Given the description of an element on the screen output the (x, y) to click on. 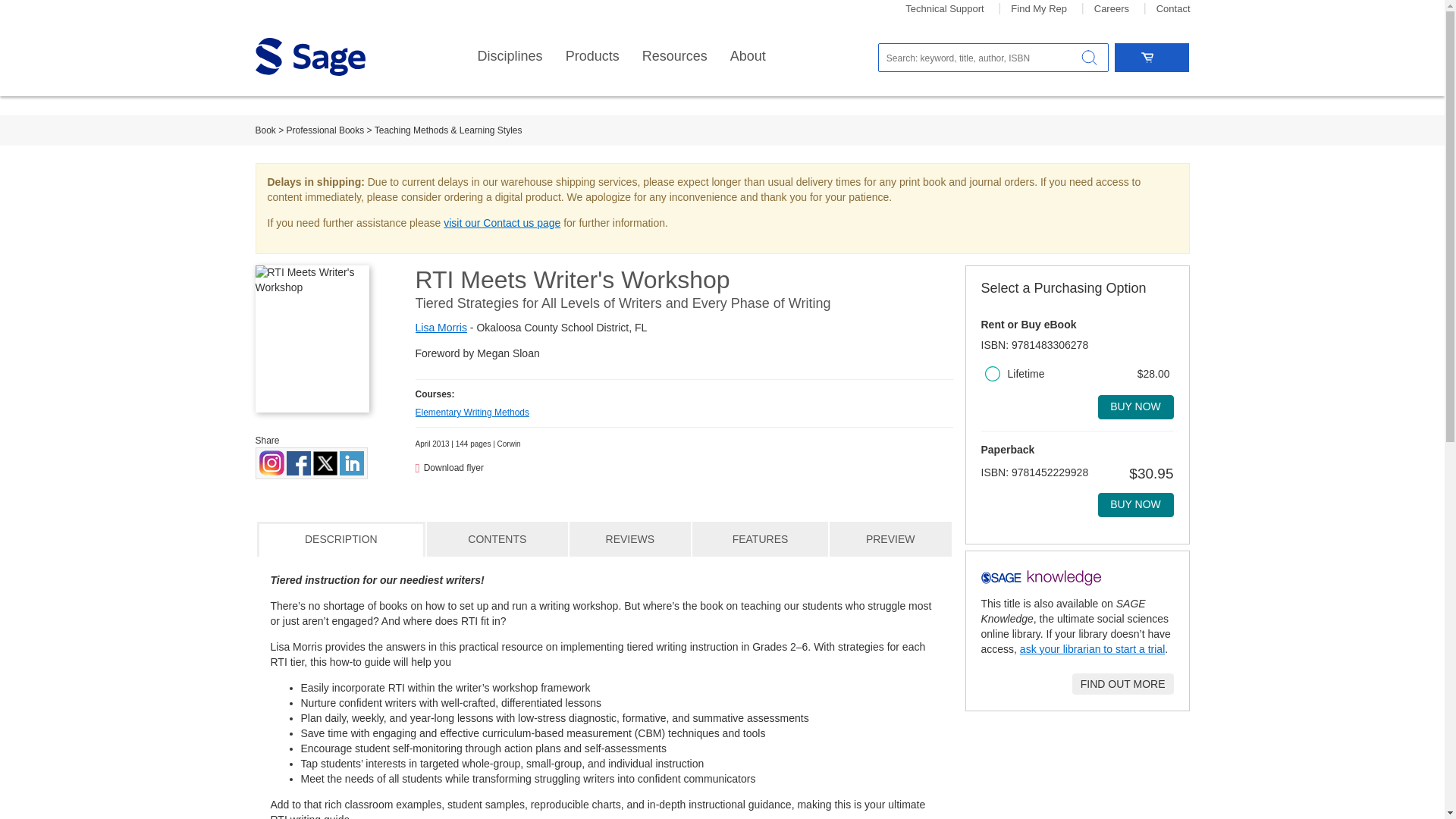
Find My Rep (1038, 8)
Buy now (1135, 406)
Sage logo: link back to homepage (309, 56)
Disciplines (509, 55)
Careers (1111, 8)
Search (1089, 57)
29 (991, 373)
Technical Support (944, 8)
Buy now (1135, 504)
Contact (1173, 8)
